Given the description of an element on the screen output the (x, y) to click on. 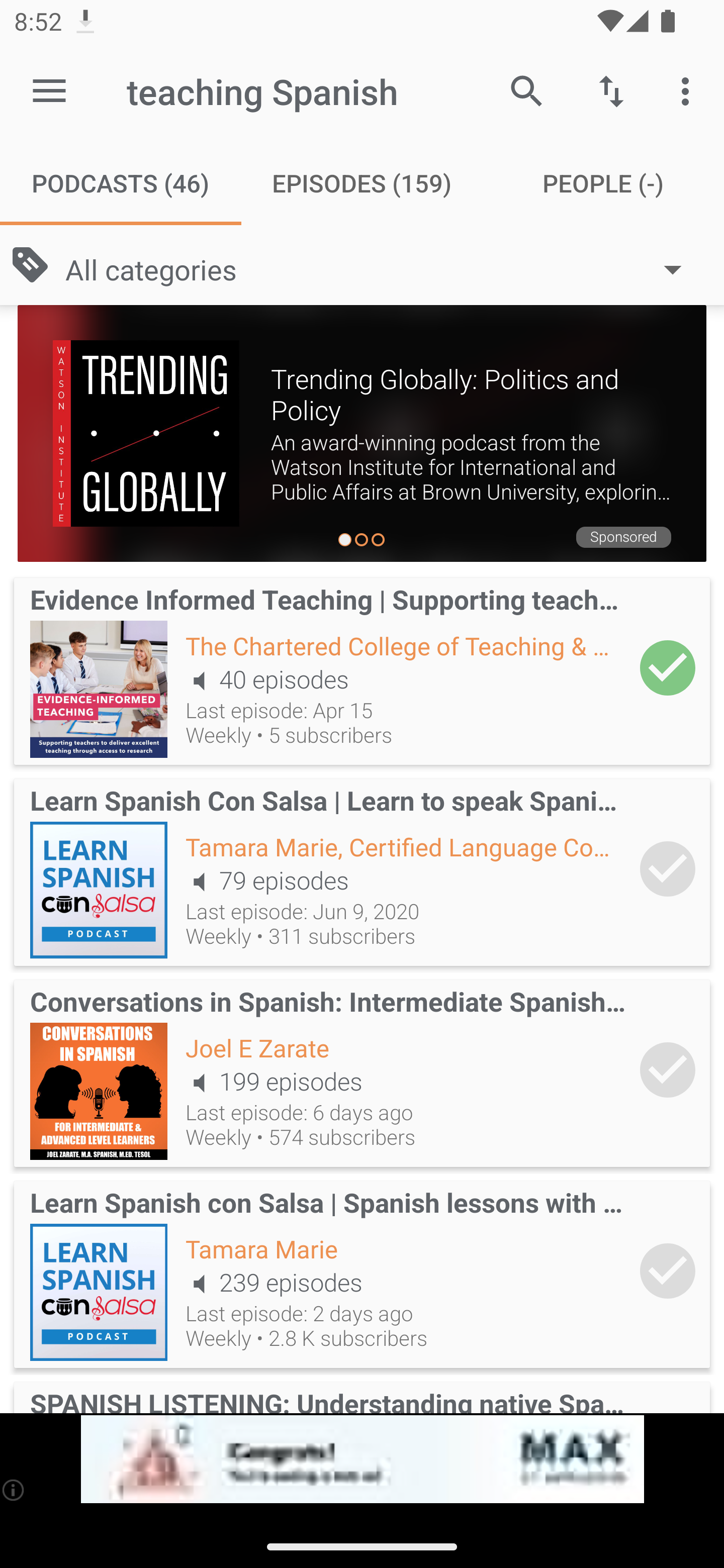
Open navigation sidebar (49, 91)
Search (526, 90)
Sort (611, 90)
More options (688, 90)
Episodes (159) EPISODES (159) (361, 183)
People (-) PEOPLE (-) (603, 183)
All categories (383, 268)
Add (667, 667)
Add (667, 868)
Add (667, 1069)
Add (667, 1271)
app-monetization (362, 1459)
(i) (14, 1489)
